Given the description of an element on the screen output the (x, y) to click on. 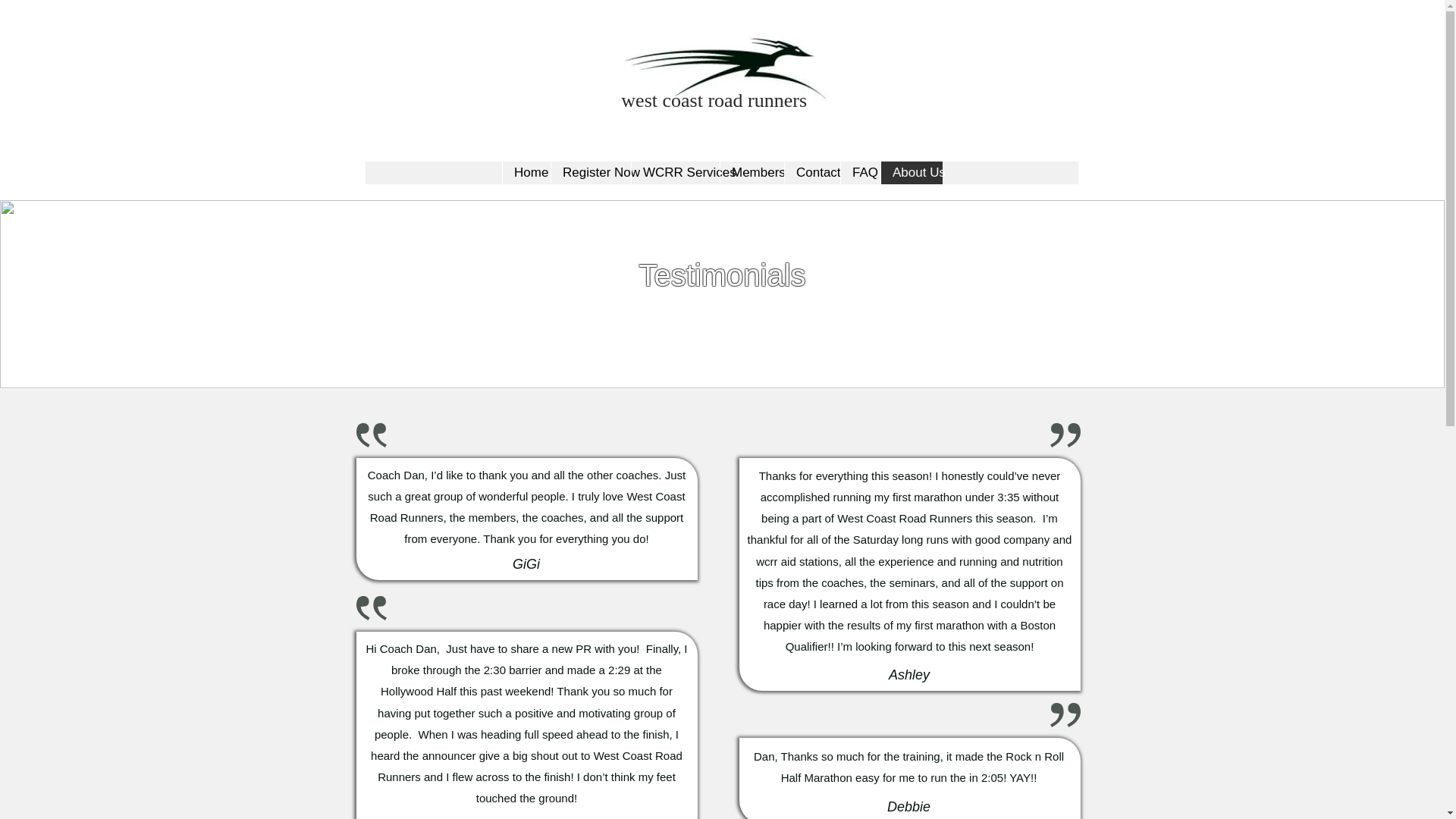
FAQ (860, 172)
Members (751, 172)
WCRR Services (674, 172)
Home (526, 172)
Contact (812, 172)
Register Now (590, 172)
About Us (911, 172)
